Given the description of an element on the screen output the (x, y) to click on. 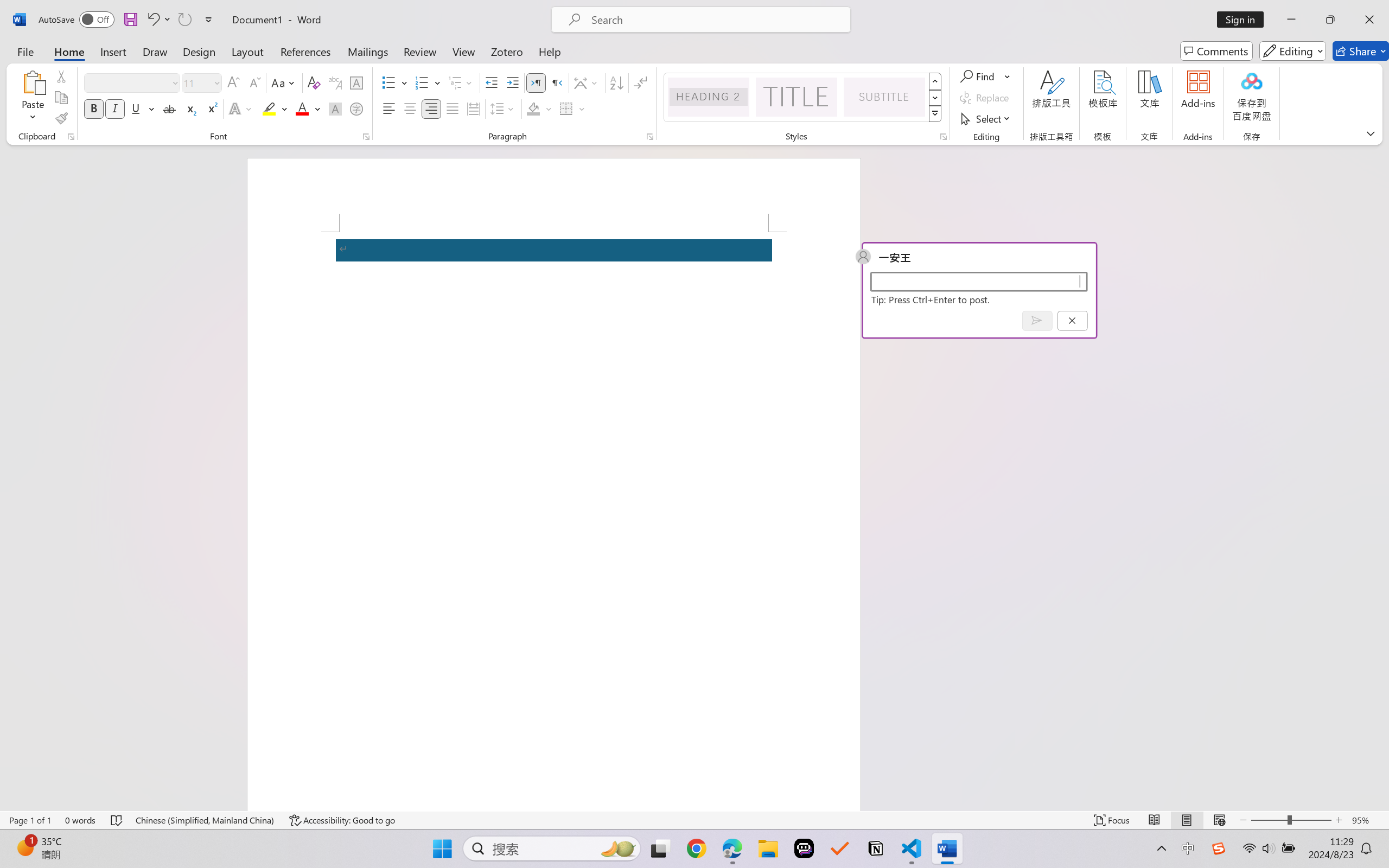
Title (796, 96)
Editing (1292, 50)
Repeat TCSCTranslate (184, 19)
